Given the description of an element on the screen output the (x, y) to click on. 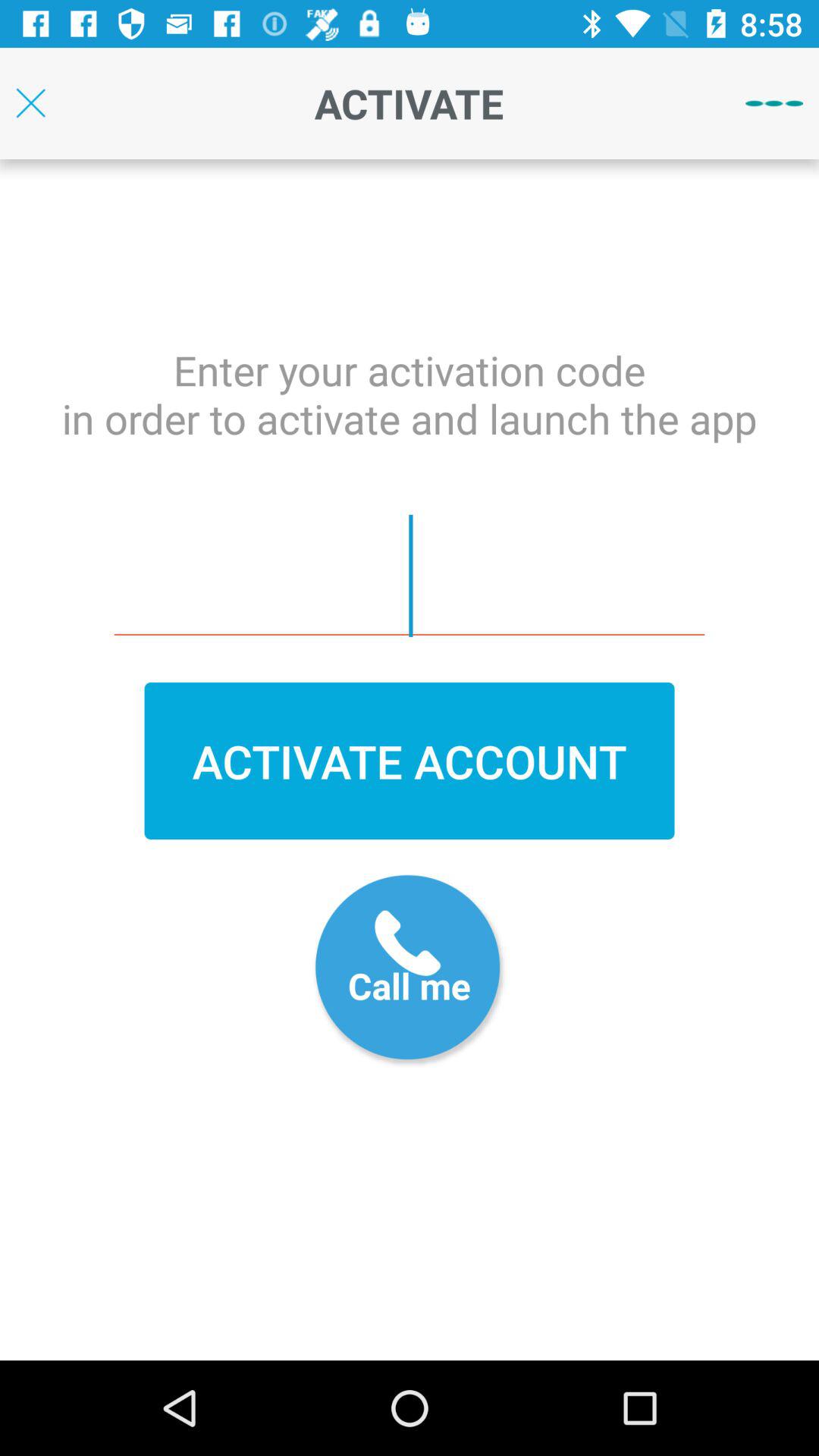
call button (409, 970)
